Given the description of an element on the screen output the (x, y) to click on. 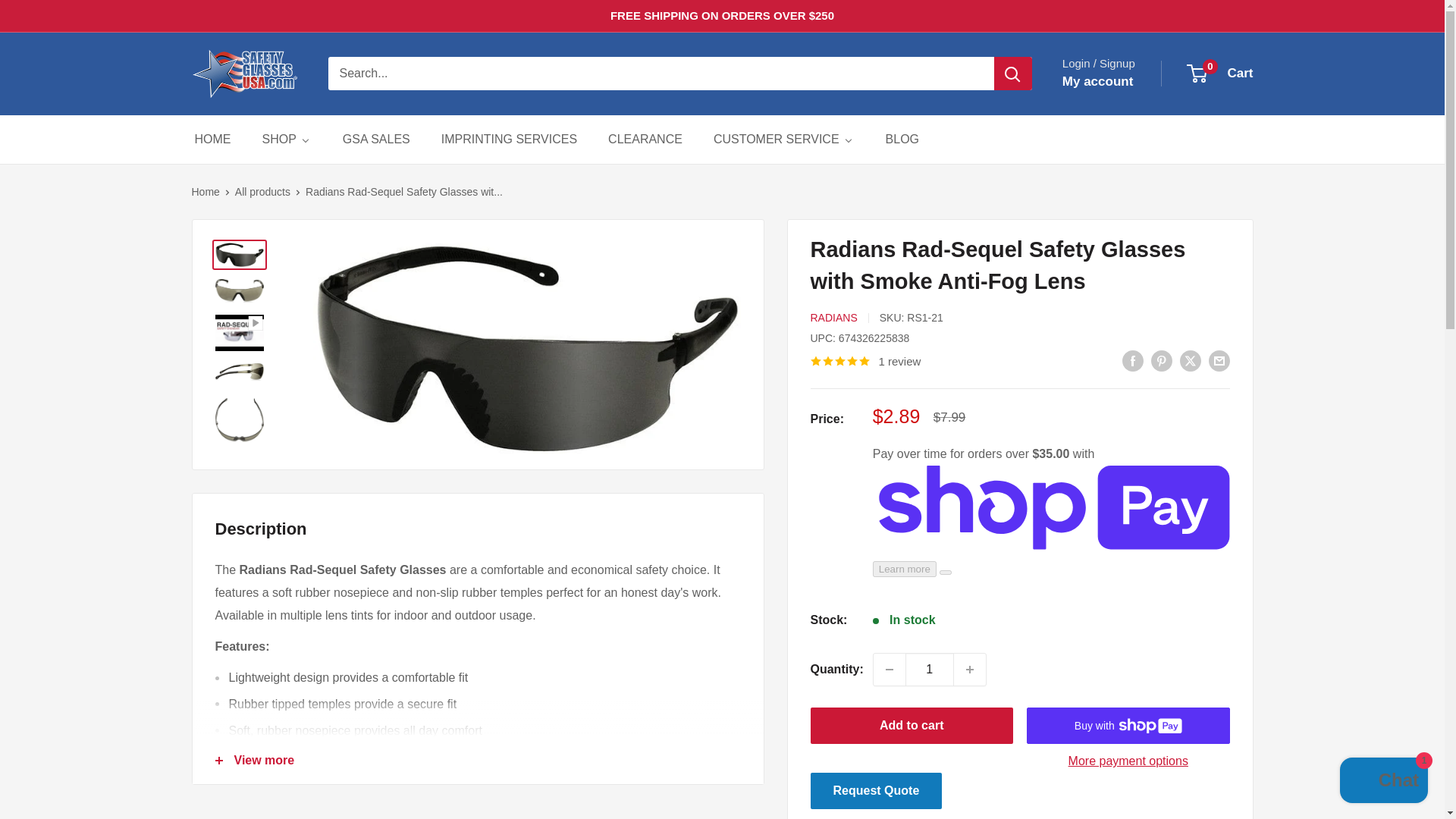
1 (929, 669)
